Given the description of an element on the screen output the (x, y) to click on. 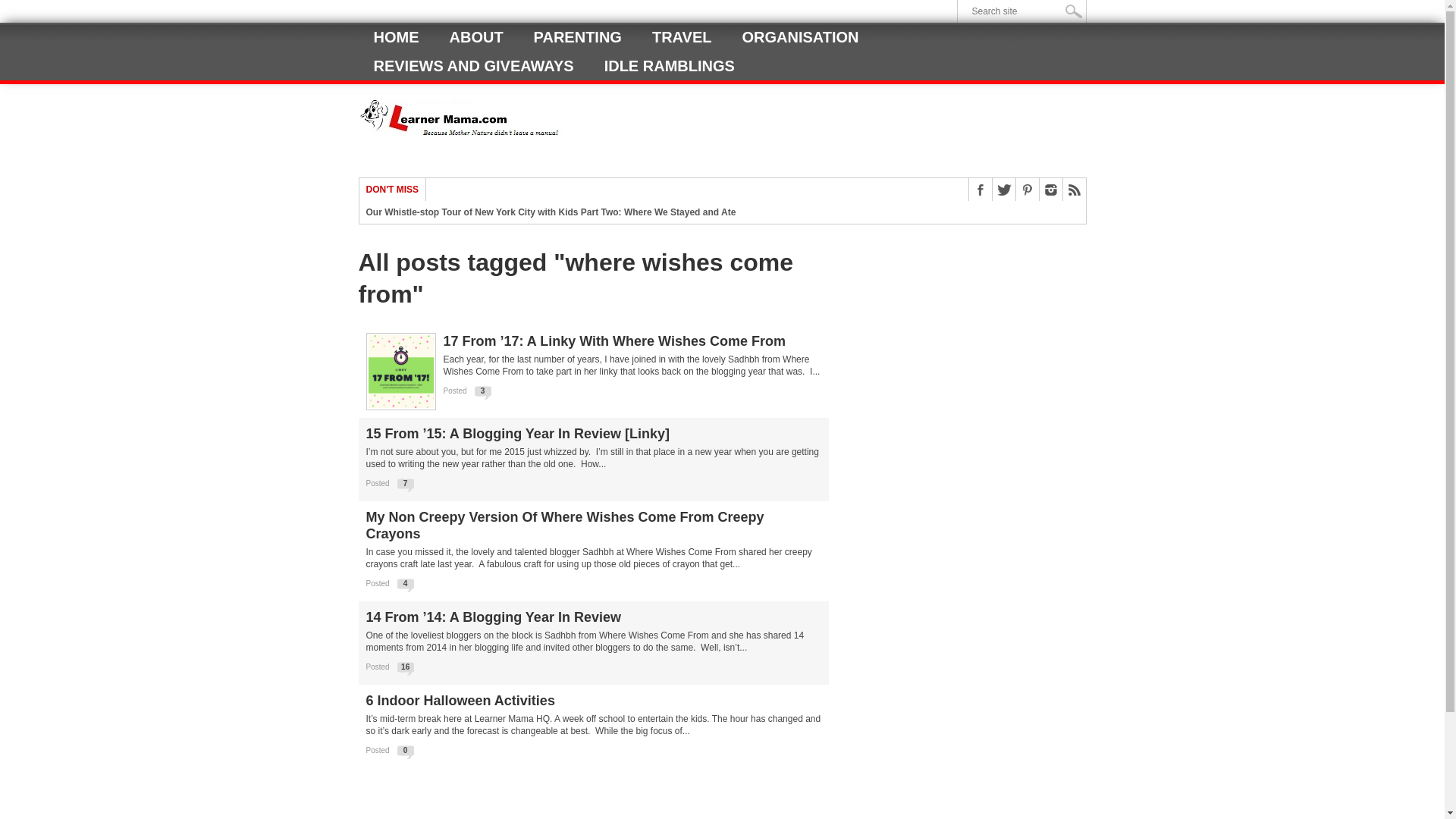
REVIEWS AND GIVEAWAYS (473, 65)
PARENTING (577, 36)
ORGANISATION (799, 36)
ABOUT (475, 36)
Search site (1024, 11)
TRAVEL (681, 36)
16 (405, 666)
HOME (395, 36)
IDLE RAMBLINGS (669, 65)
